Given the description of an element on the screen output the (x, y) to click on. 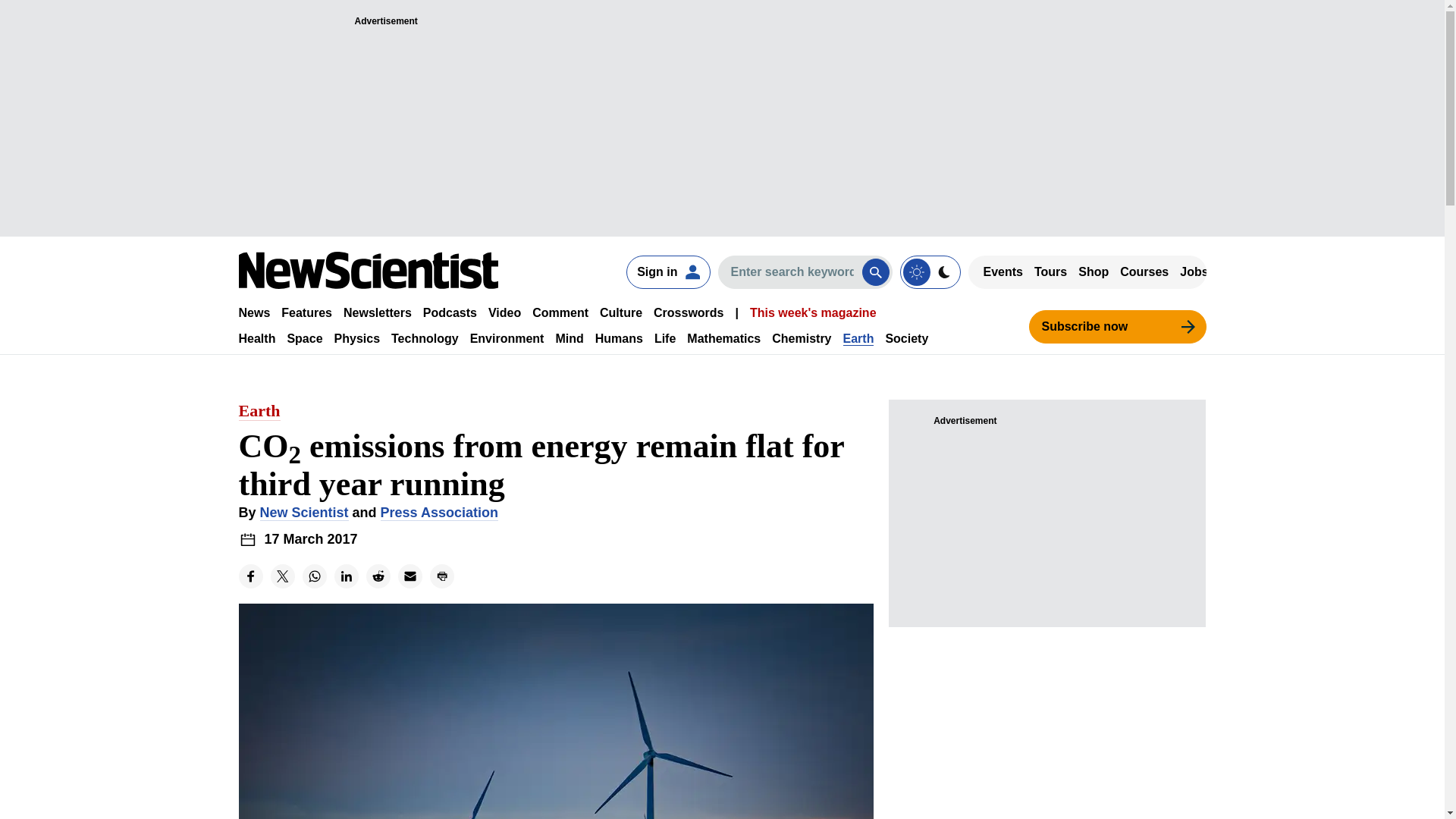
Comment (560, 313)
Podcasts (450, 313)
Features (306, 313)
Jobs (1193, 272)
Culture (620, 313)
Earth (859, 338)
Life (664, 338)
Subscribe now (1116, 326)
Technology (424, 338)
Video (504, 313)
